Given the description of an element on the screen output the (x, y) to click on. 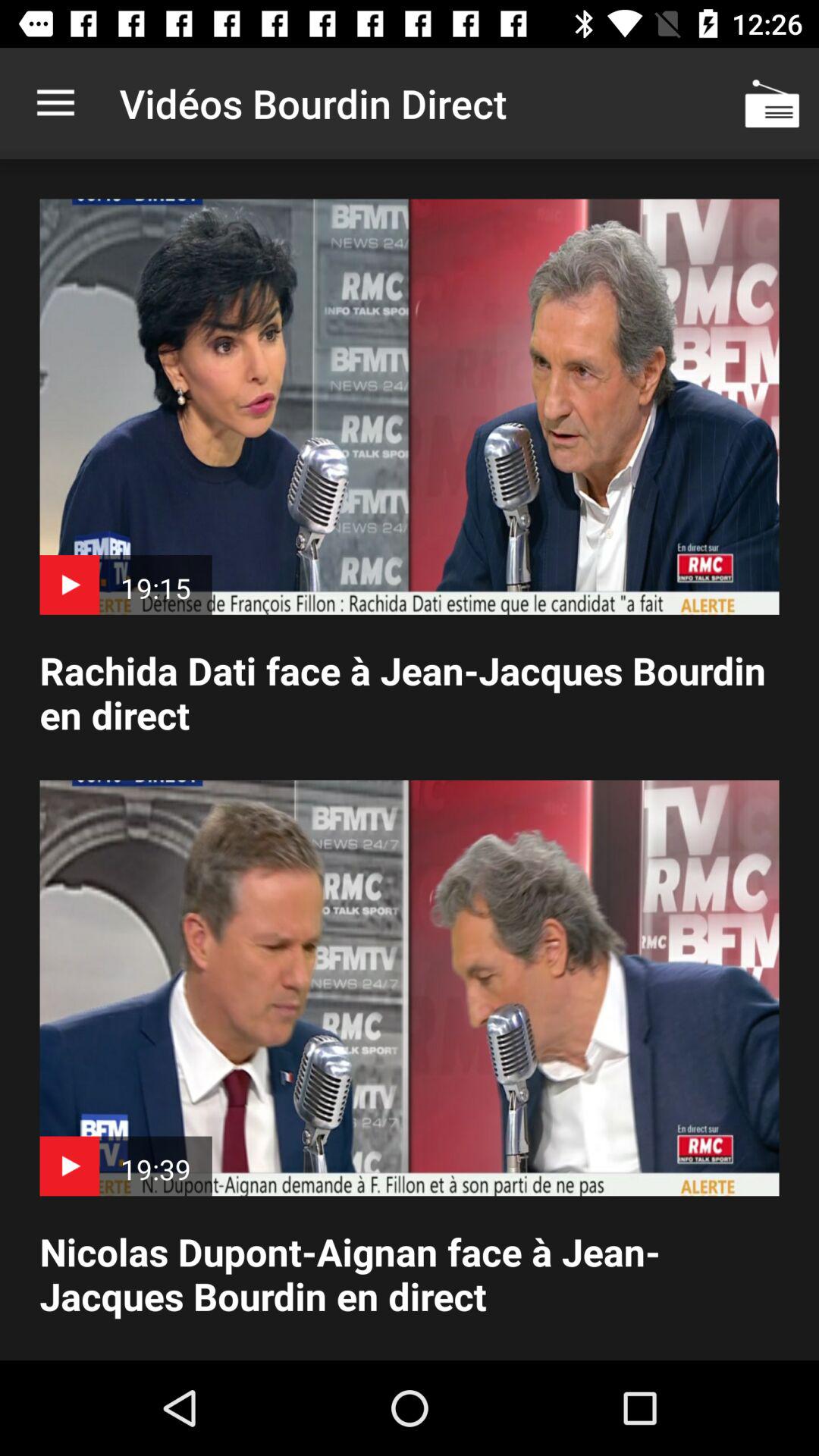
tap the item at the top left corner (55, 103)
